Given the description of an element on the screen output the (x, y) to click on. 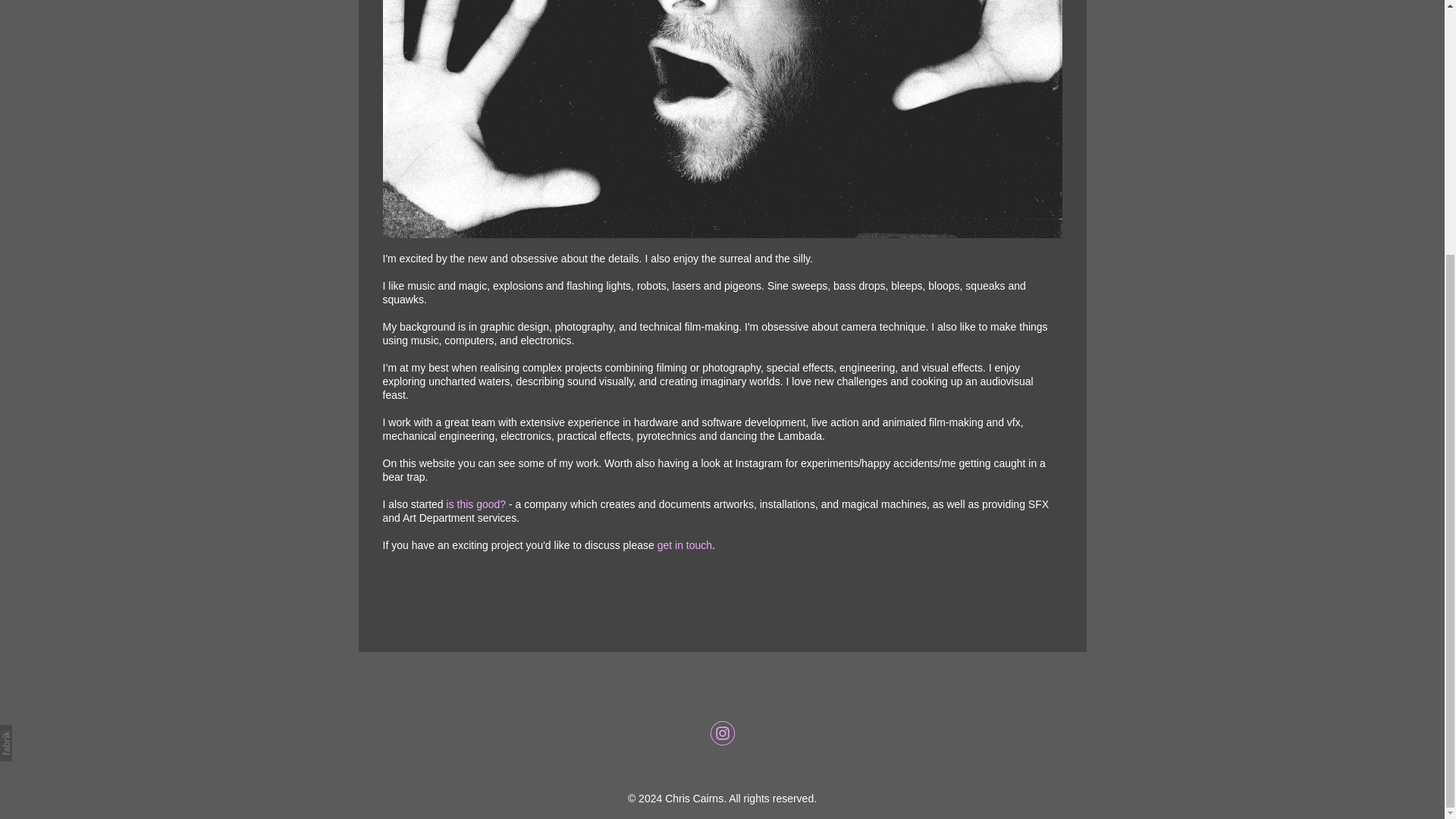
Instagram (721, 733)
get in touch (684, 544)
is this good? (476, 503)
